Given the description of an element on the screen output the (x, y) to click on. 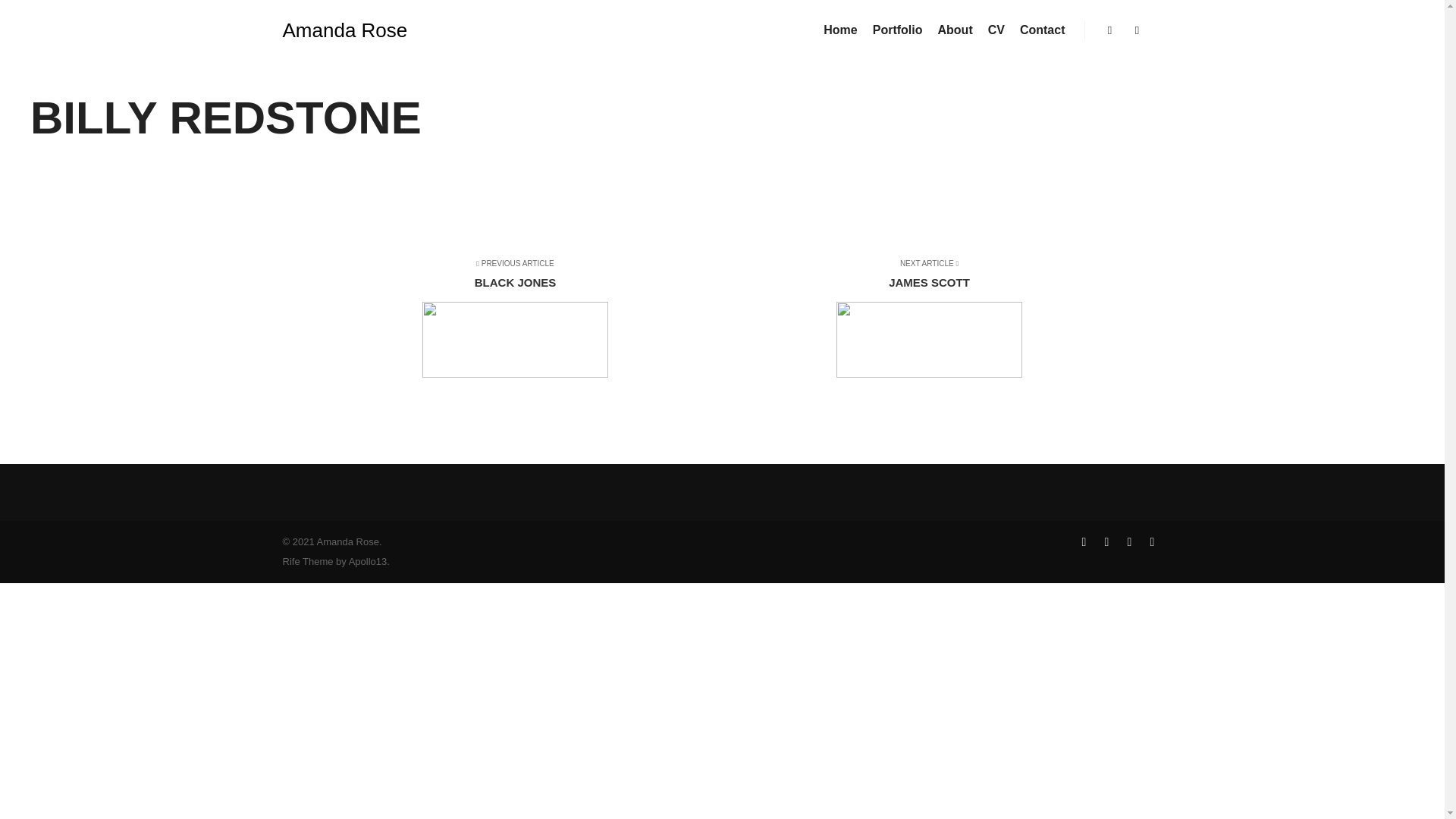
More info (1137, 30)
Amanda Rose (344, 30)
E-mail (1128, 542)
Apollo13 (368, 561)
Instagram (1083, 542)
Search (1110, 30)
Amanda Rose (344, 30)
Linkedin (919, 319)
Search (1106, 542)
Contact (524, 319)
Behance (1110, 30)
Portfolio (1042, 30)
More info (1151, 542)
